Given the description of an element on the screen output the (x, y) to click on. 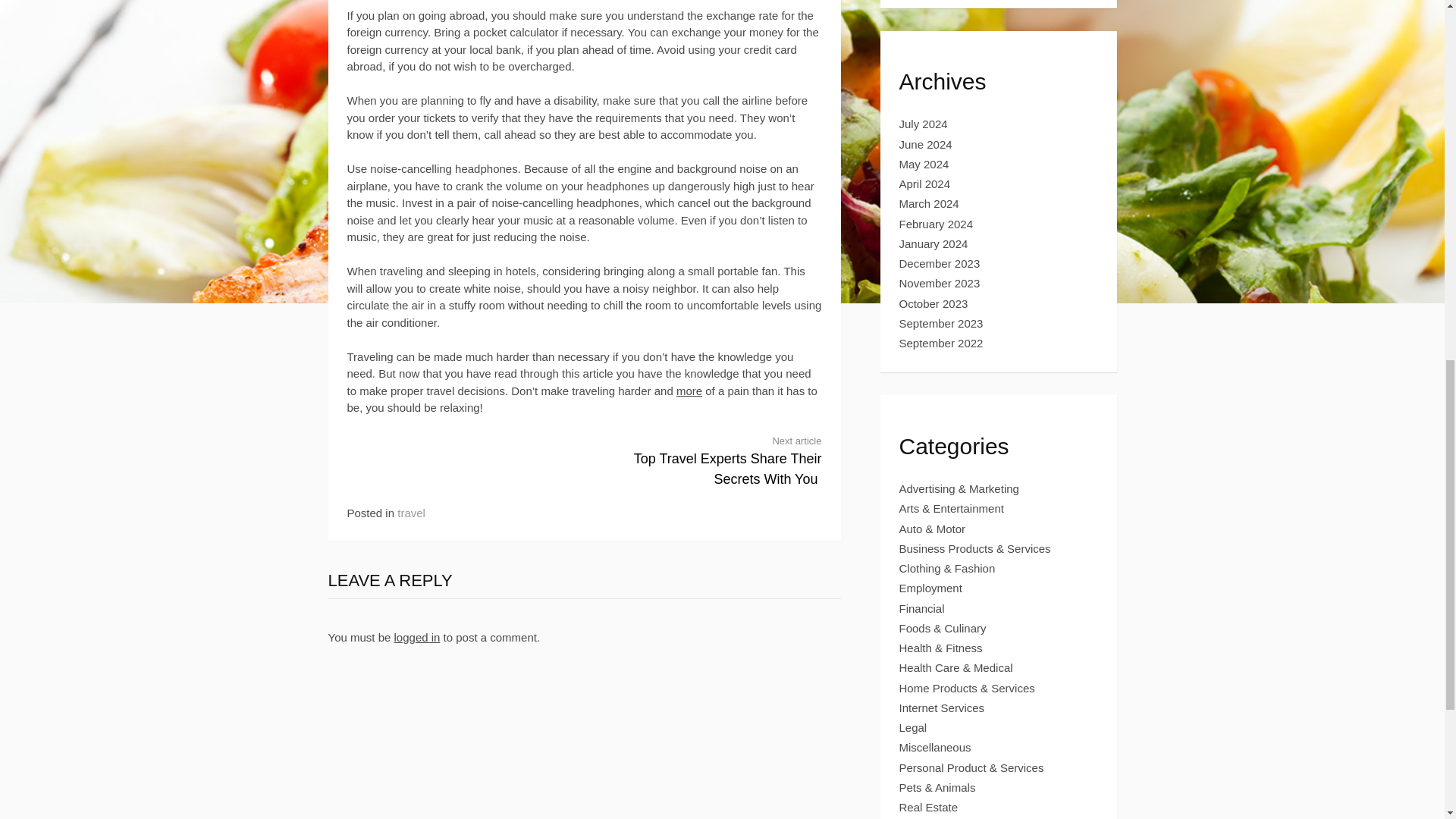
April 2024 (924, 183)
November 2023 (939, 282)
September 2023 (715, 460)
December 2023 (941, 323)
October 2023 (939, 263)
Employment (933, 303)
January 2024 (930, 587)
September 2022 (933, 243)
June 2024 (941, 342)
